Given the description of an element on the screen output the (x, y) to click on. 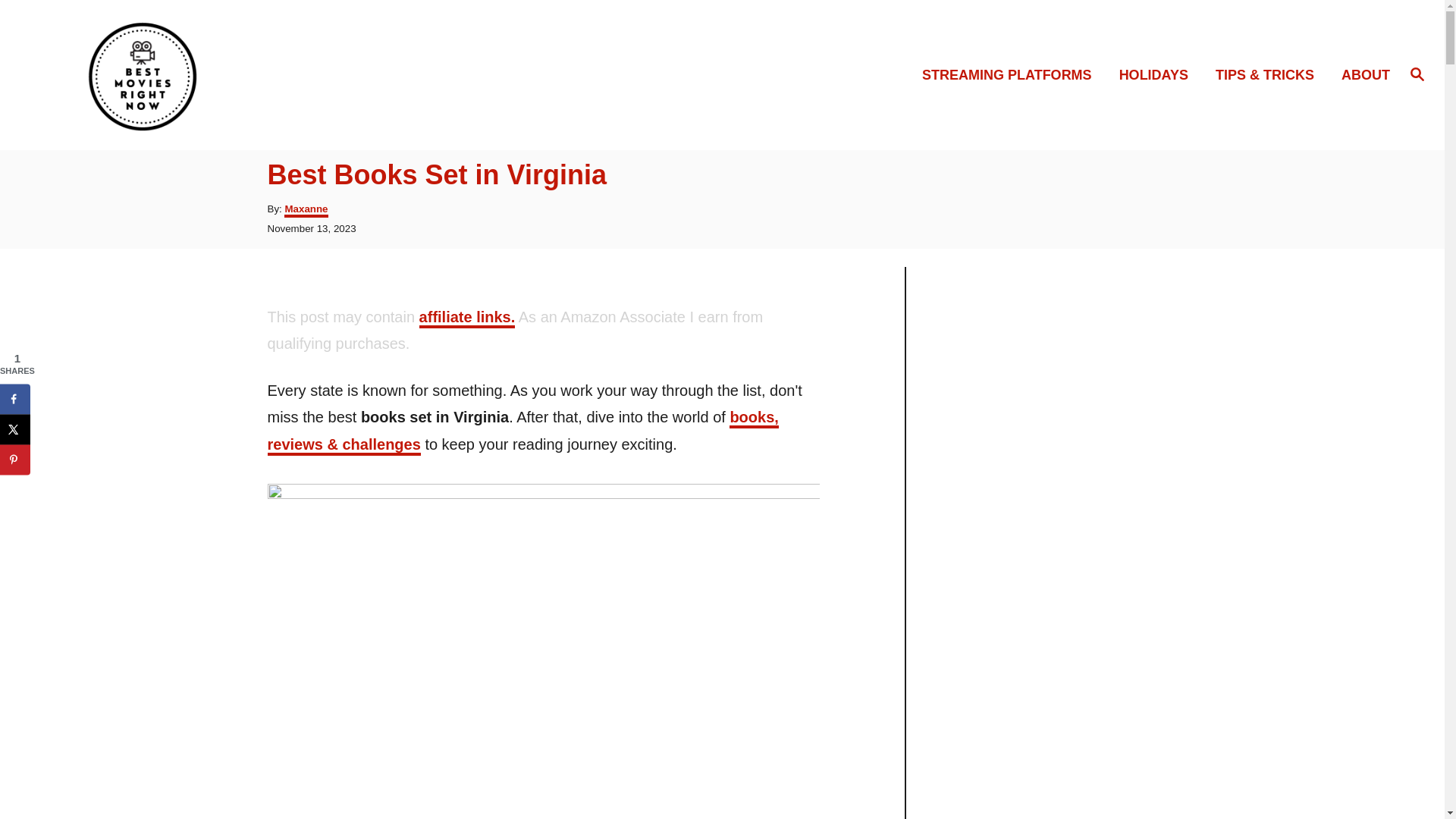
HOLIDAYS (1158, 75)
Best Movies Right Now (204, 74)
Maxanne (305, 210)
ABOUT (1361, 75)
Magnifying Glass (1416, 74)
STREAMING PLATFORMS (1010, 75)
affiliate links. (467, 318)
